Given the description of an element on the screen output the (x, y) to click on. 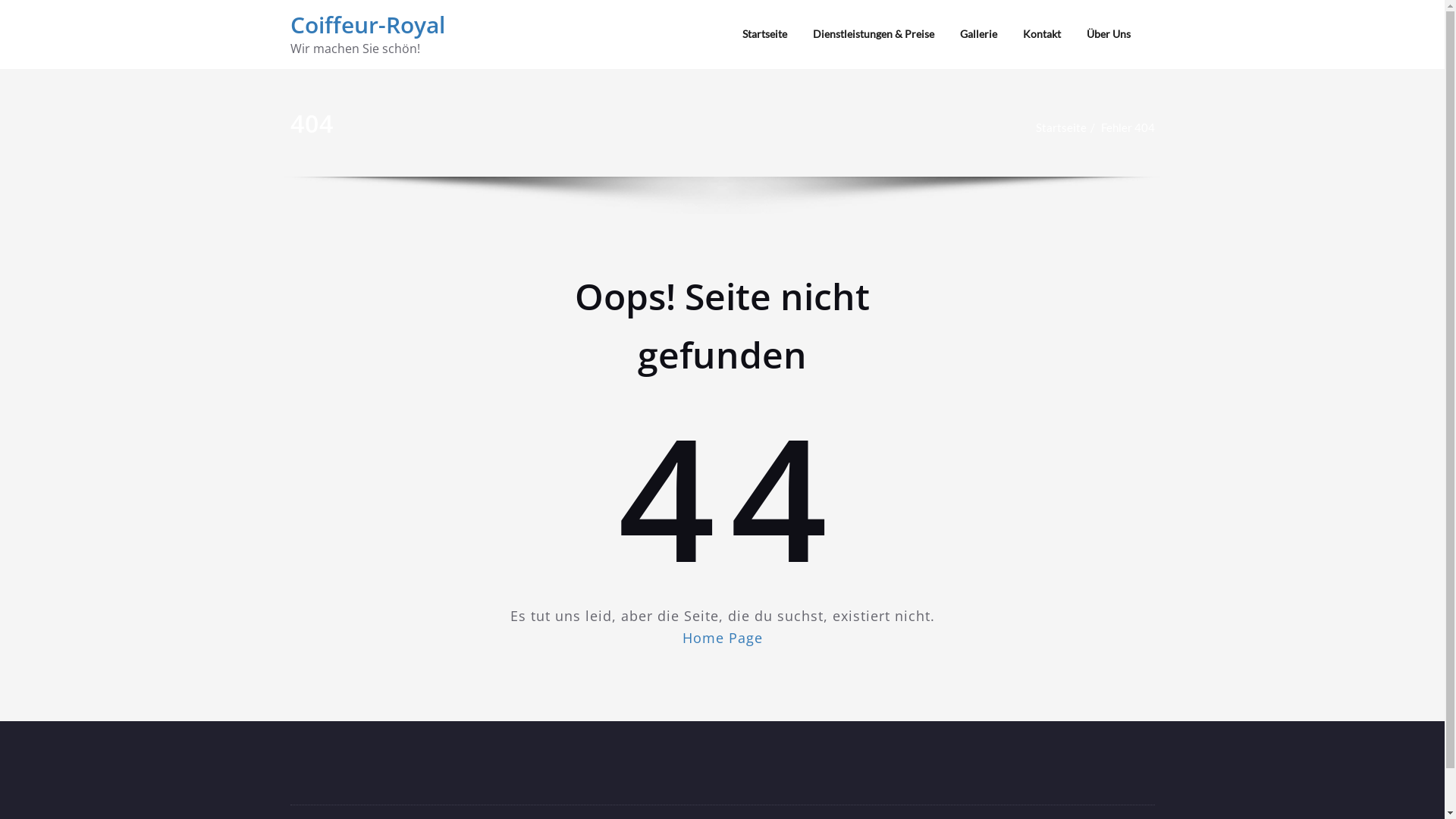
Startseite Element type: text (764, 34)
Dienstleistungen & Preise Element type: text (872, 34)
Gallerie Element type: text (977, 34)
Startseite Element type: text (1060, 127)
Kontakt Element type: text (1041, 34)
Fehler 404 Element type: text (1127, 127)
Coiffeur-Royal Element type: text (366, 24)
Home Page Element type: text (722, 637)
